Given the description of an element on the screen output the (x, y) to click on. 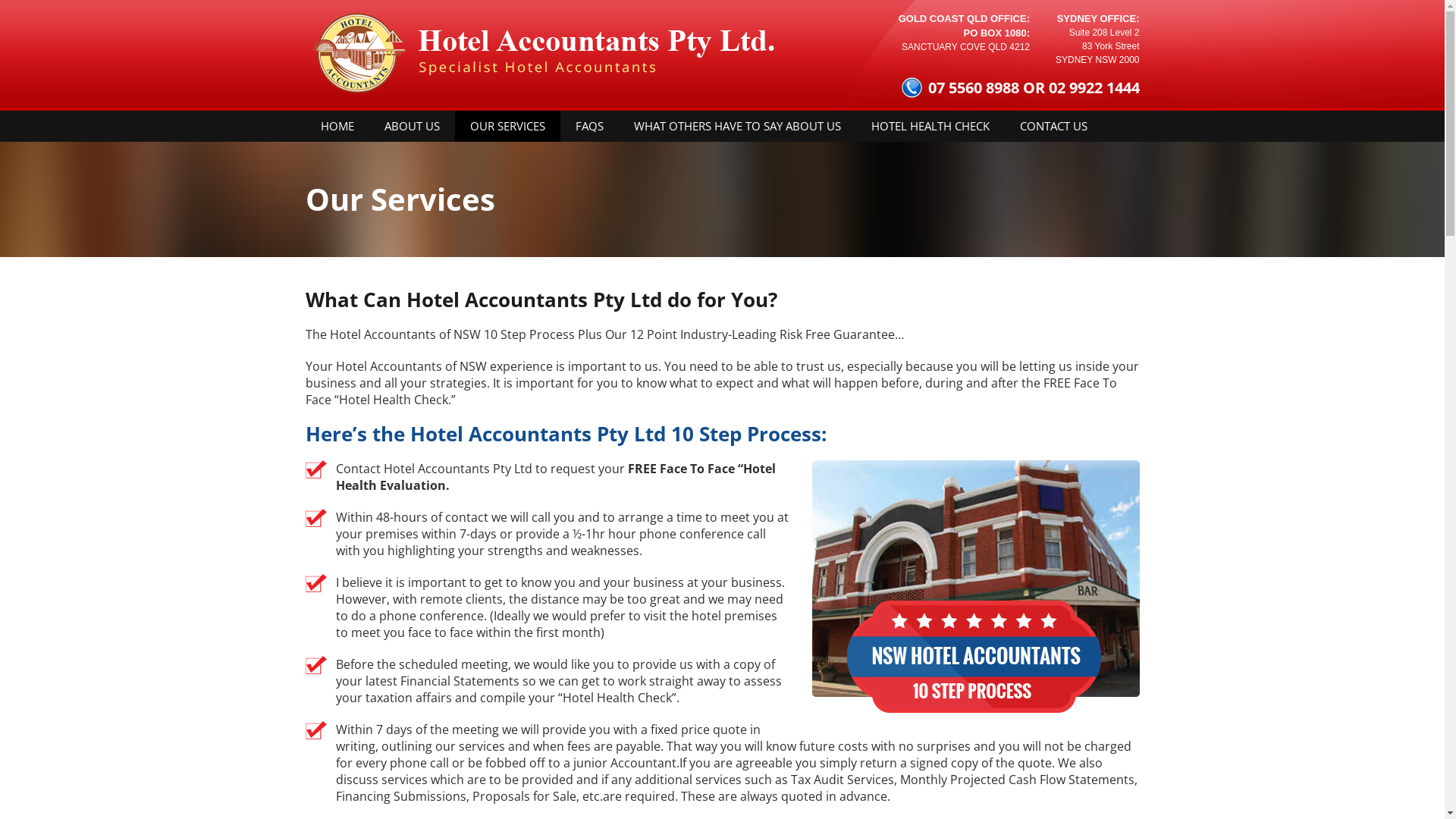
OUR SERVICES Element type: text (507, 125)
CONTACT US Element type: text (1052, 125)
HOME Element type: text (336, 125)
WHAT OTHERS HAVE TO SAY ABOUT US Element type: text (737, 125)
FAQS Element type: text (588, 125)
HOTEL HEALTH CHECK Element type: text (929, 125)
ABOUT US Element type: text (411, 125)
